Given the description of an element on the screen output the (x, y) to click on. 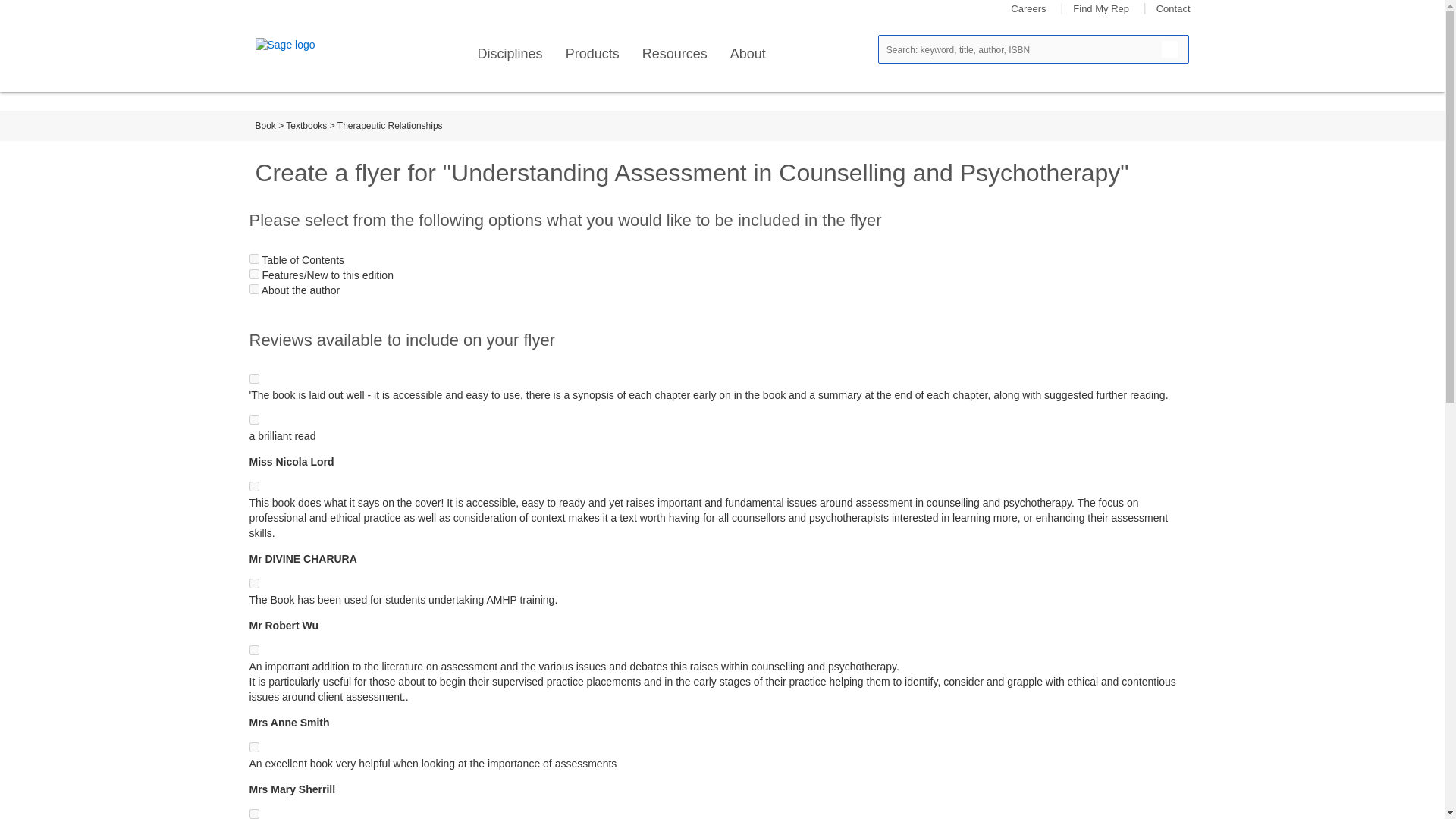
1 (253, 289)
126412 (253, 747)
Find My Rep (1101, 8)
1 (253, 274)
120546 (253, 814)
Sage: Find my rep (1101, 8)
1 (253, 258)
Sage logo: link back to homepage (309, 45)
152324 (253, 378)
Search (1169, 48)
Careers (1027, 8)
Contact (1173, 8)
120549 (253, 583)
165041 (253, 419)
